Given the description of an element on the screen output the (x, y) to click on. 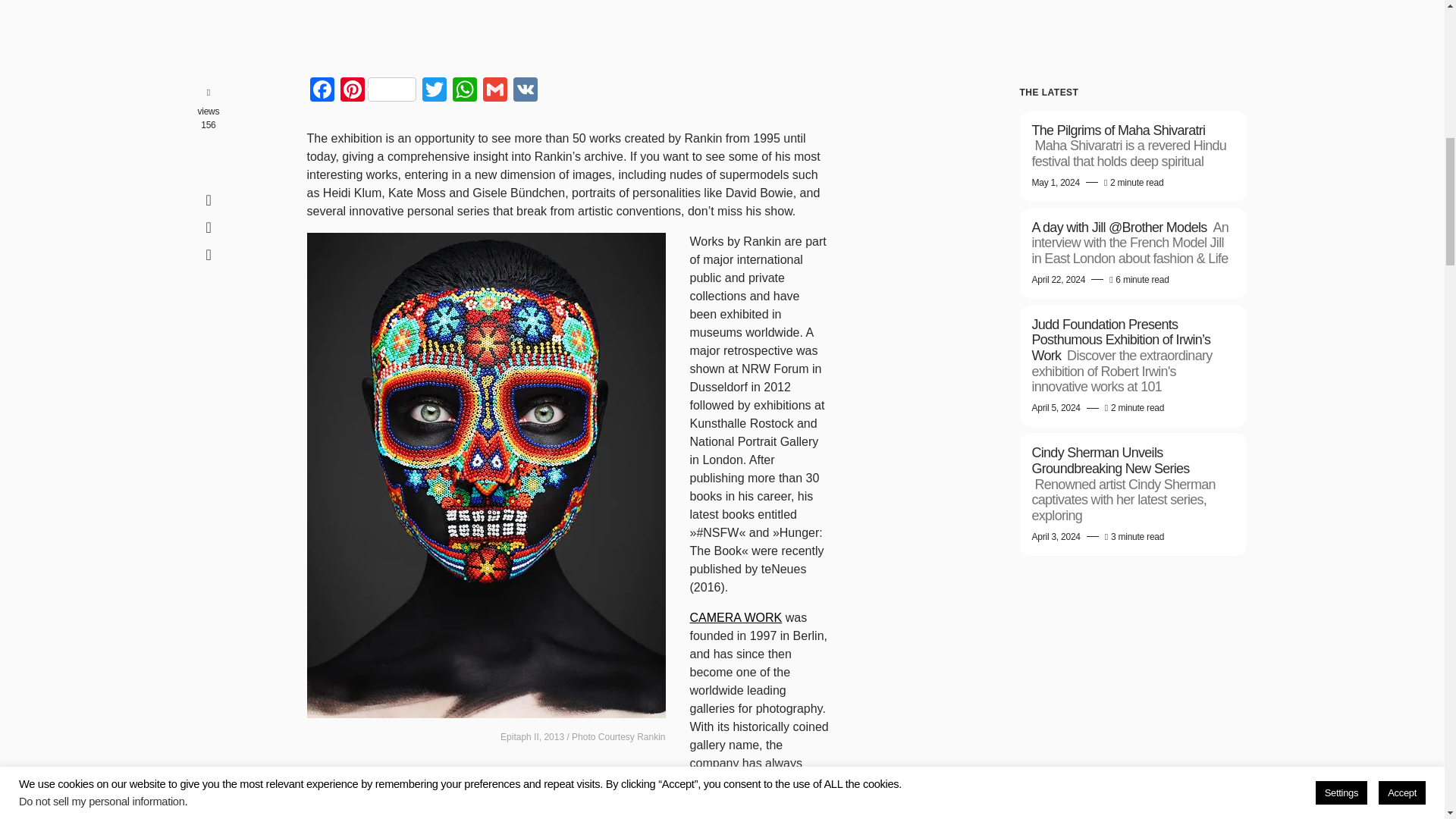
Page 2 (567, 714)
Twitter (433, 90)
Gmail (494, 90)
WhatsApp (463, 90)
Facebook (320, 90)
Pinterest (377, 90)
VK (524, 90)
